Given the description of an element on the screen output the (x, y) to click on. 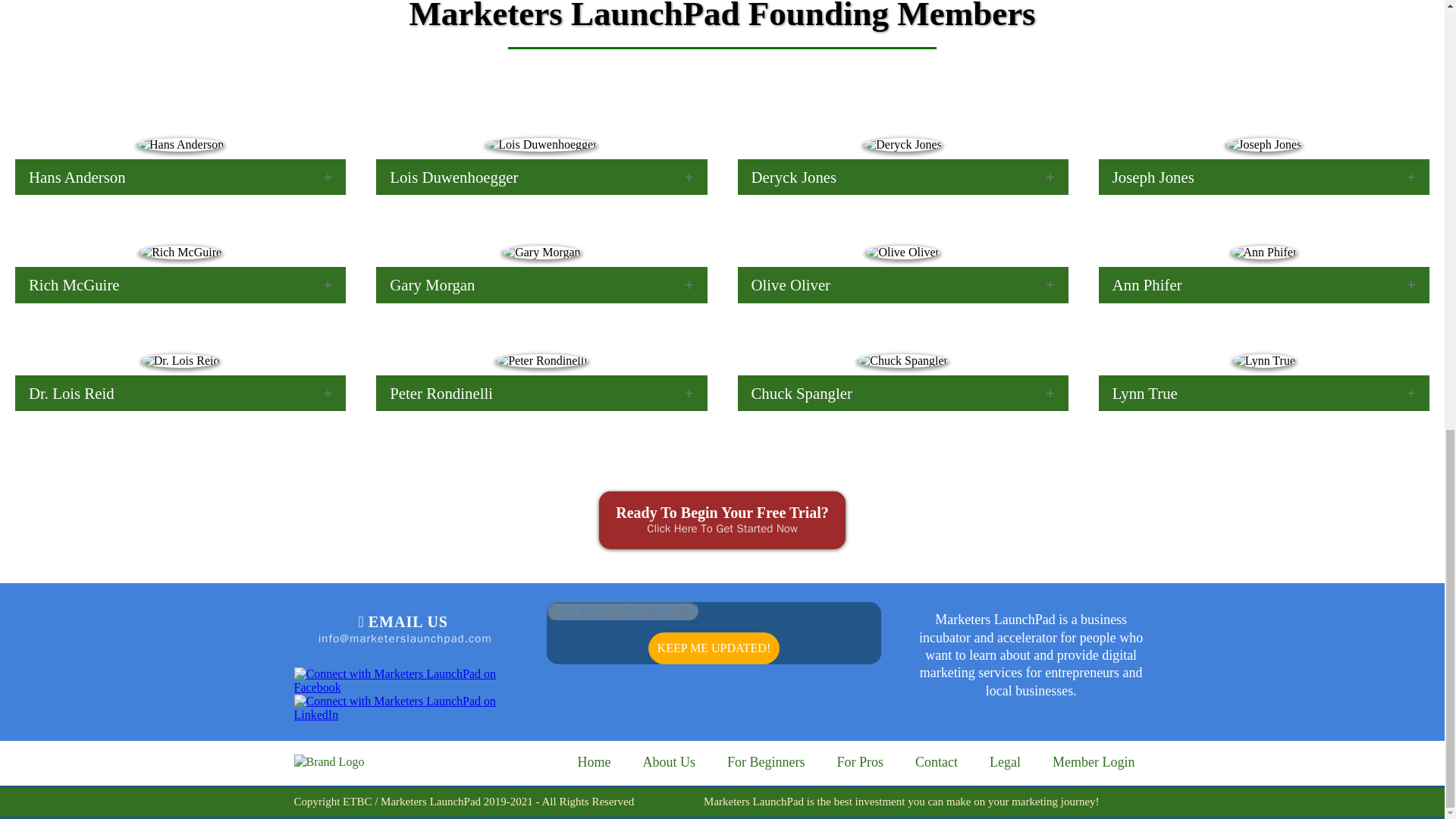
For Beginners (766, 762)
Lynn True (1264, 393)
Home (593, 762)
Joseph Jones (1264, 176)
Dr. Lois Reid (180, 393)
Hans Anderson (180, 176)
Rich McGuire (180, 284)
Contact (936, 762)
For Pros (860, 762)
Peter Rondinelli (540, 393)
